Given the description of an element on the screen output the (x, y) to click on. 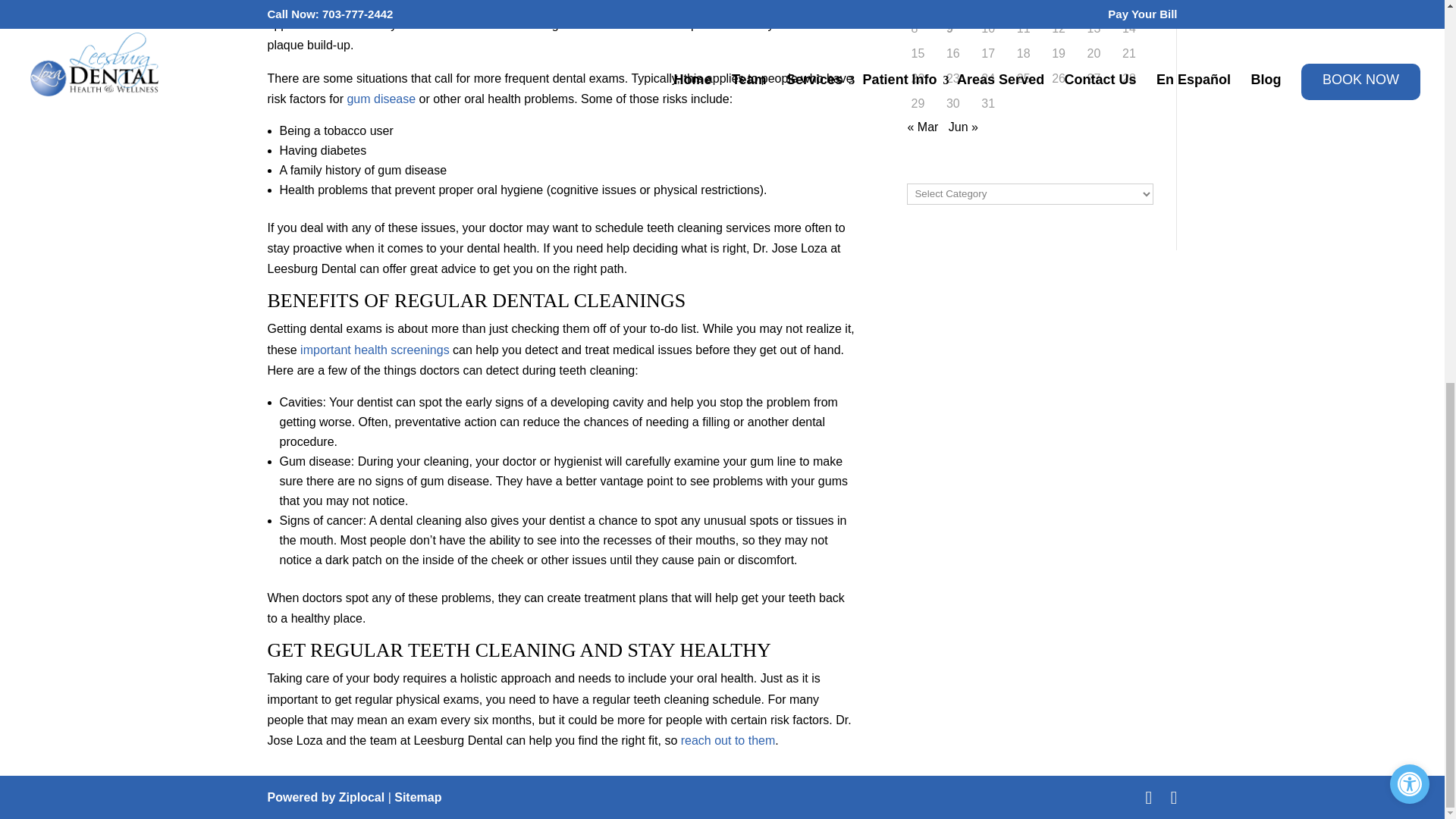
Accessibility Tools (1409, 66)
Accessibility Tools (1409, 66)
